Given the description of an element on the screen output the (x, y) to click on. 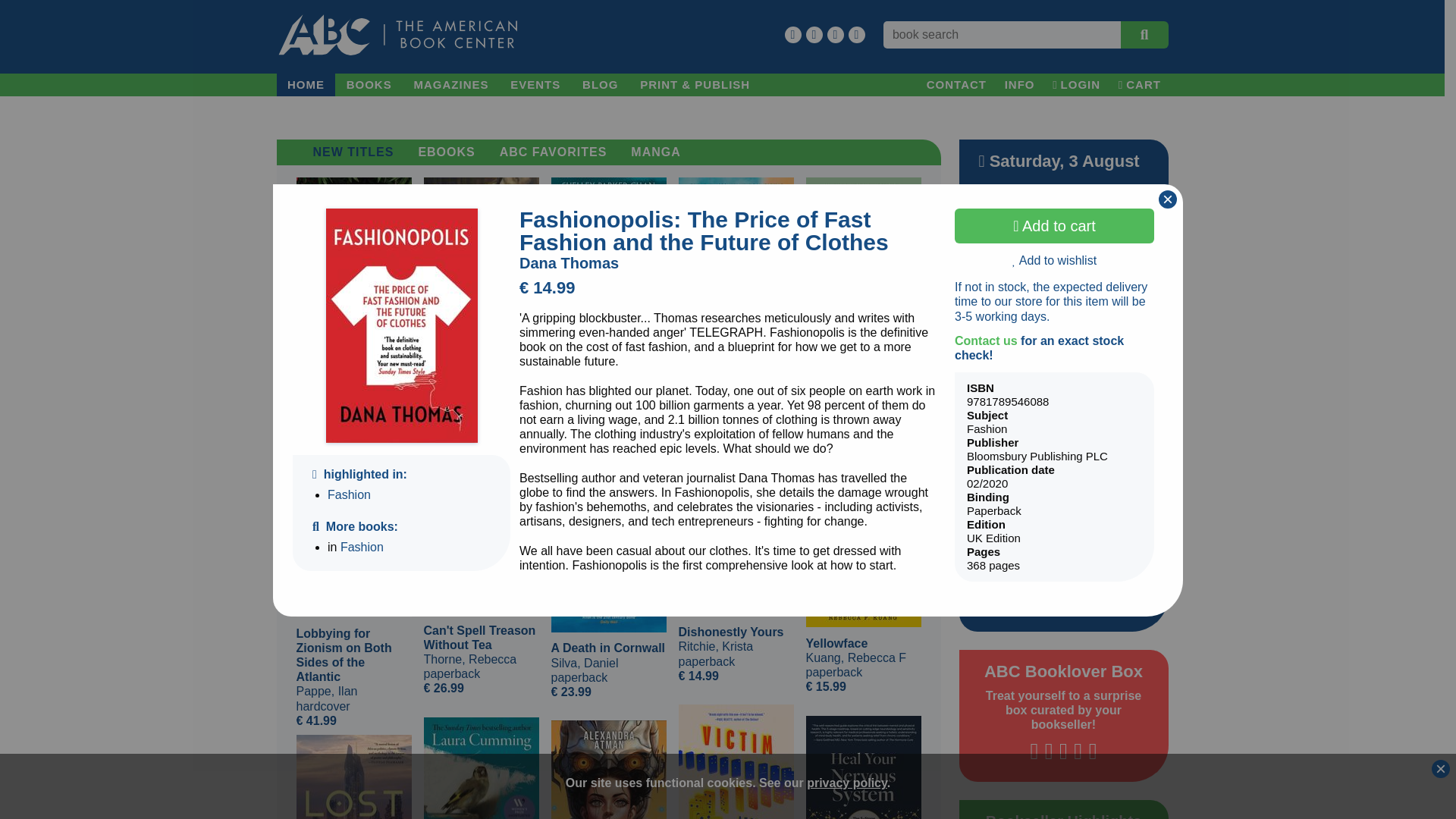
The American Book Center (397, 34)
MAGAZINES (451, 84)
CONTACT (955, 84)
EVENTS (535, 84)
Lost Ark Dreaming (352, 776)
LOGIN (1076, 84)
INFO (1019, 84)
CART (1138, 84)
ANTI (607, 769)
Thunderclap (480, 768)
